Given the description of an element on the screen output the (x, y) to click on. 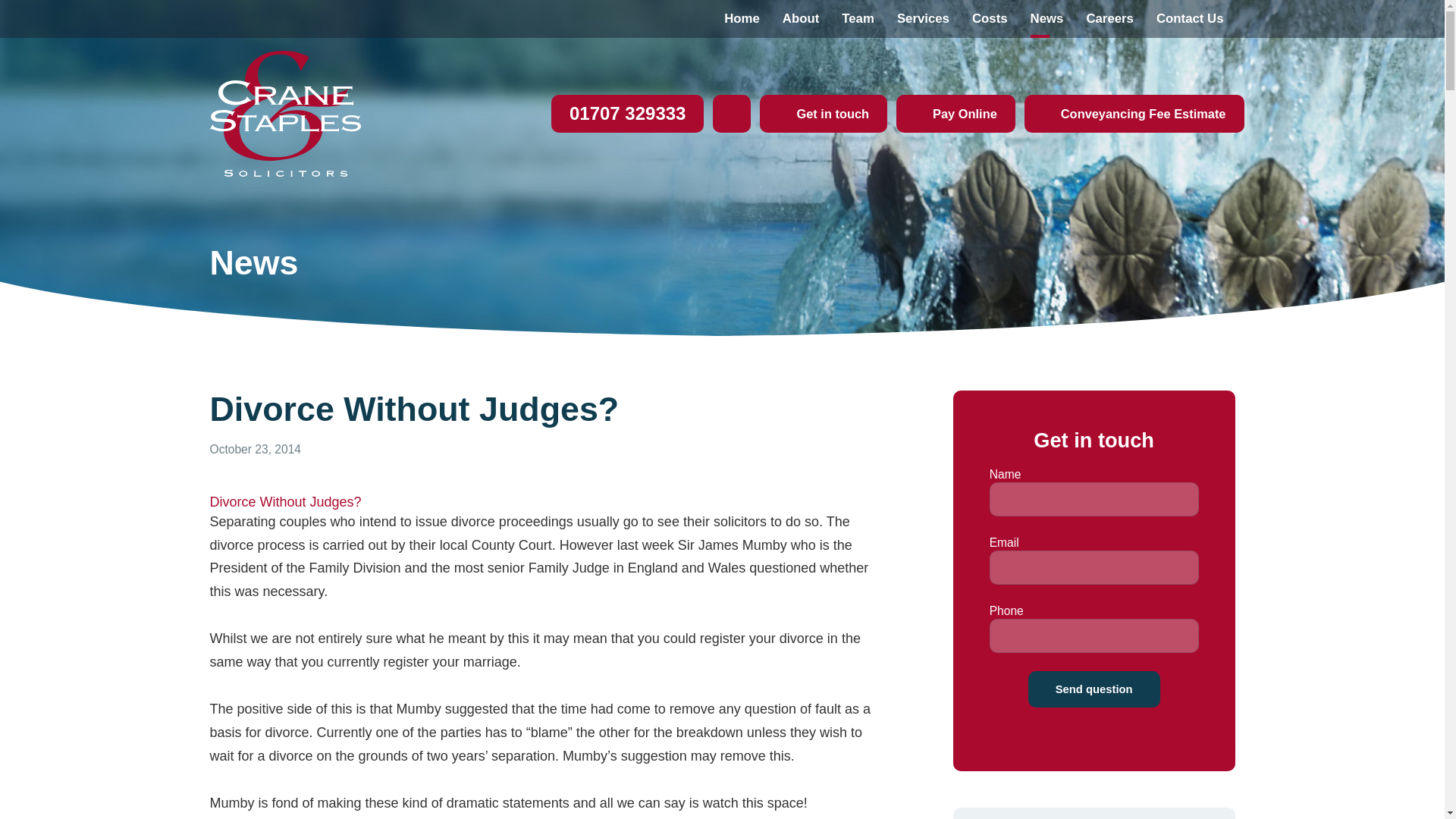
About (800, 18)
Home (742, 18)
Send question (1093, 688)
Costs (989, 18)
News (1047, 18)
Team (857, 18)
Services (922, 18)
Careers (1109, 18)
